Given the description of an element on the screen output the (x, y) to click on. 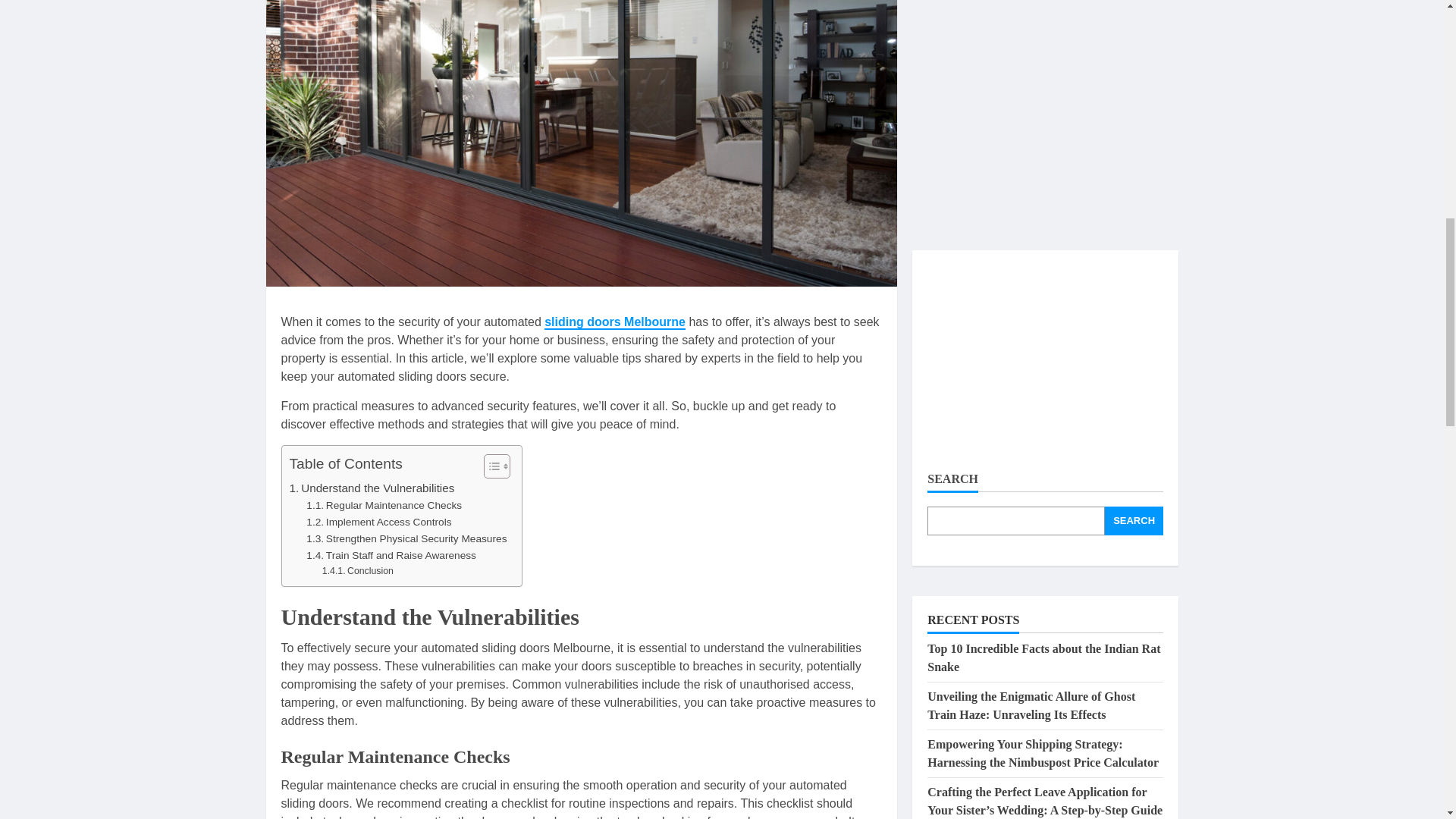
Regular Maintenance Checks (383, 505)
Regular Maintenance Checks (383, 505)
Implement Access Controls (378, 522)
Conclusion (357, 571)
Conclusion (357, 571)
Understand the Vulnerabilities (371, 488)
Implement Access Controls (378, 522)
Train Staff and Raise Awareness (390, 555)
Strengthen Physical Security Measures (405, 538)
Understand the Vulnerabilities (371, 488)
Advertisement (1045, 69)
Strengthen Physical Security Measures (405, 538)
sliding doors Melbourne (614, 322)
Train Staff and Raise Awareness (390, 555)
